Given the description of an element on the screen output the (x, y) to click on. 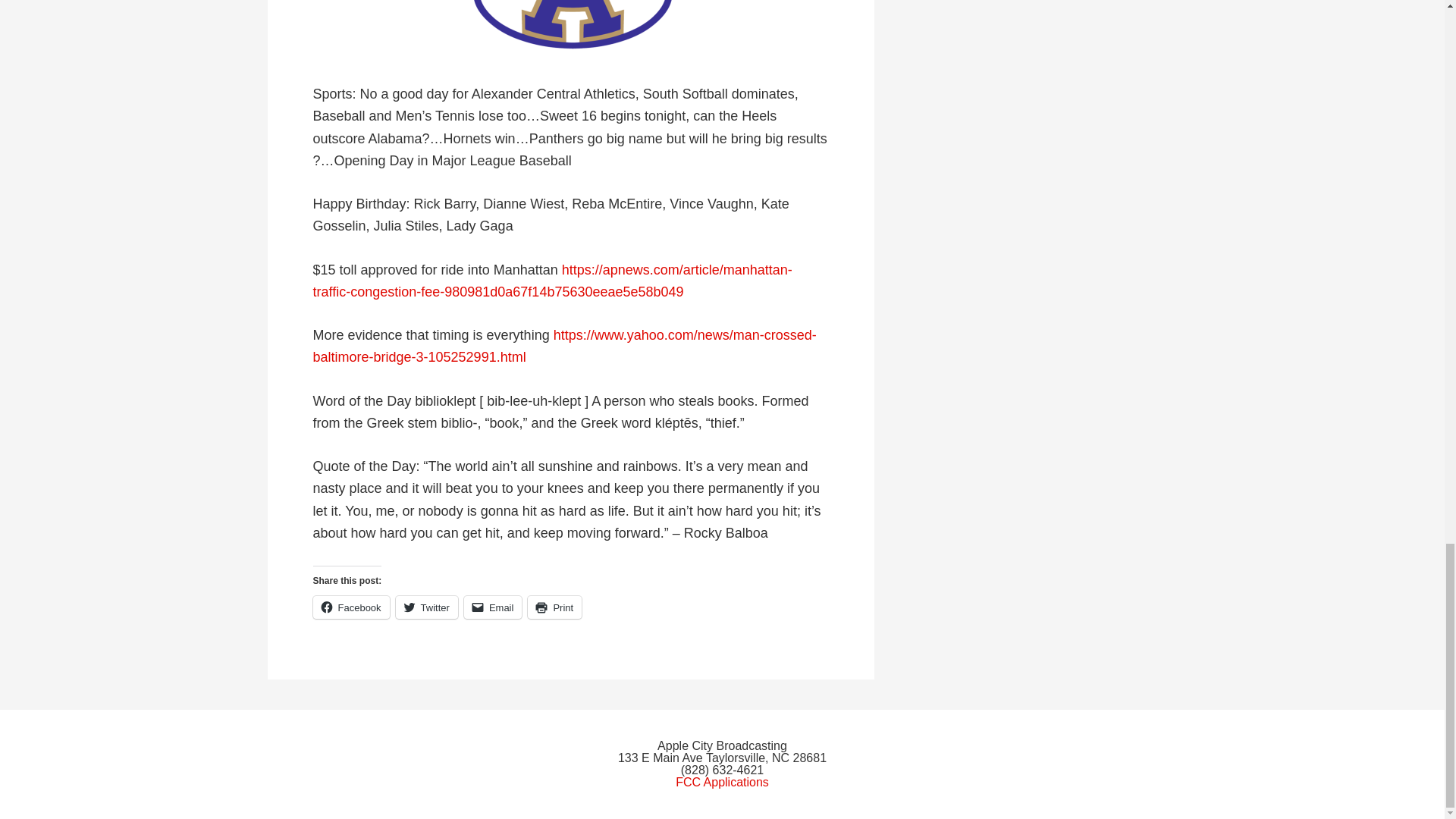
Facebook (350, 607)
FCC Applications (721, 781)
Email (493, 607)
Twitter (427, 607)
Print (553, 607)
Click to email a link to a friend (493, 607)
Click to print (553, 607)
Click to share on Twitter (427, 607)
Click to share on Facebook (350, 607)
